Given the description of an element on the screen output the (x, y) to click on. 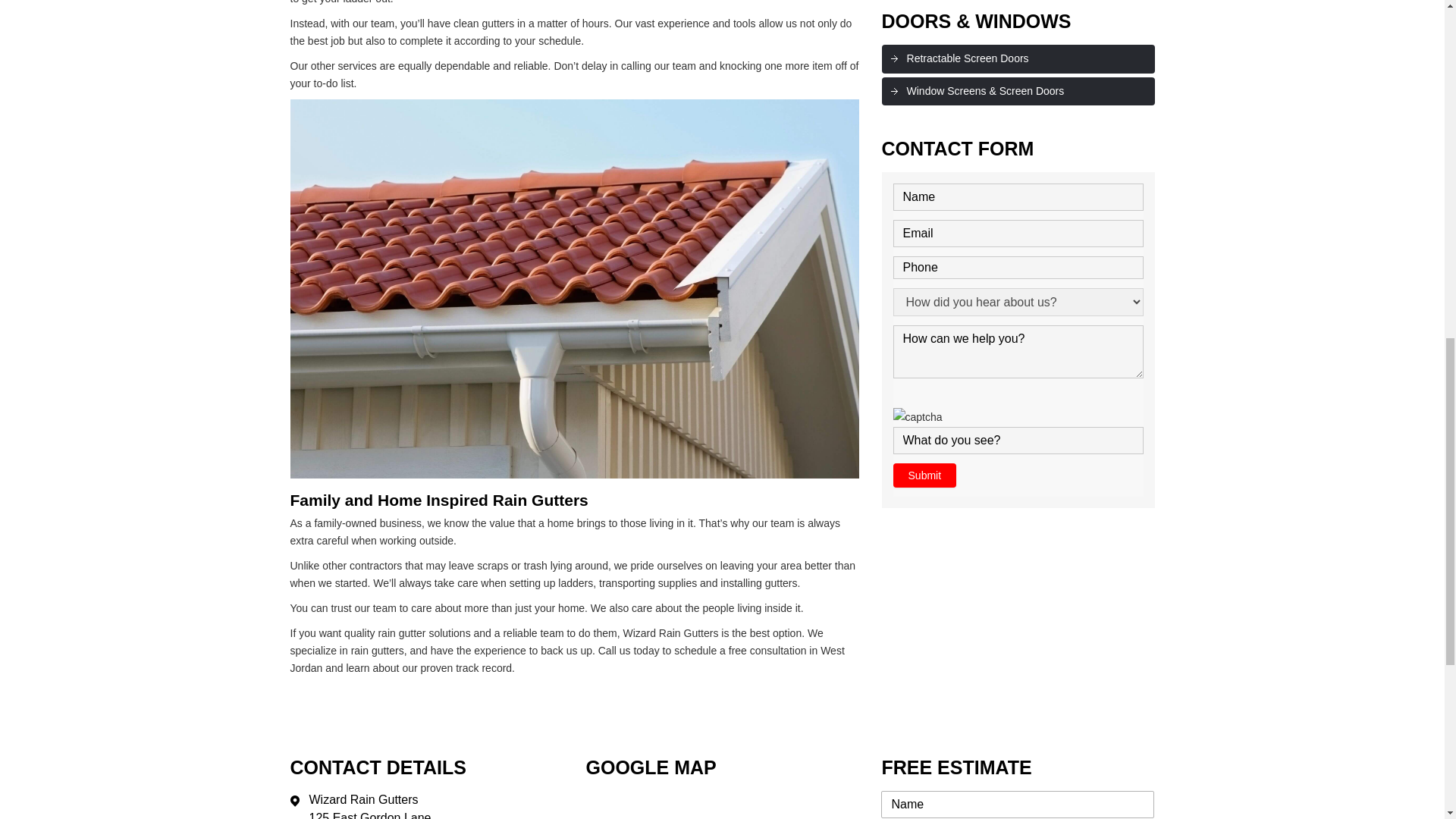
Retractable Screen Doors (1018, 59)
Submit (924, 475)
Submit (924, 475)
